Given the description of an element on the screen output the (x, y) to click on. 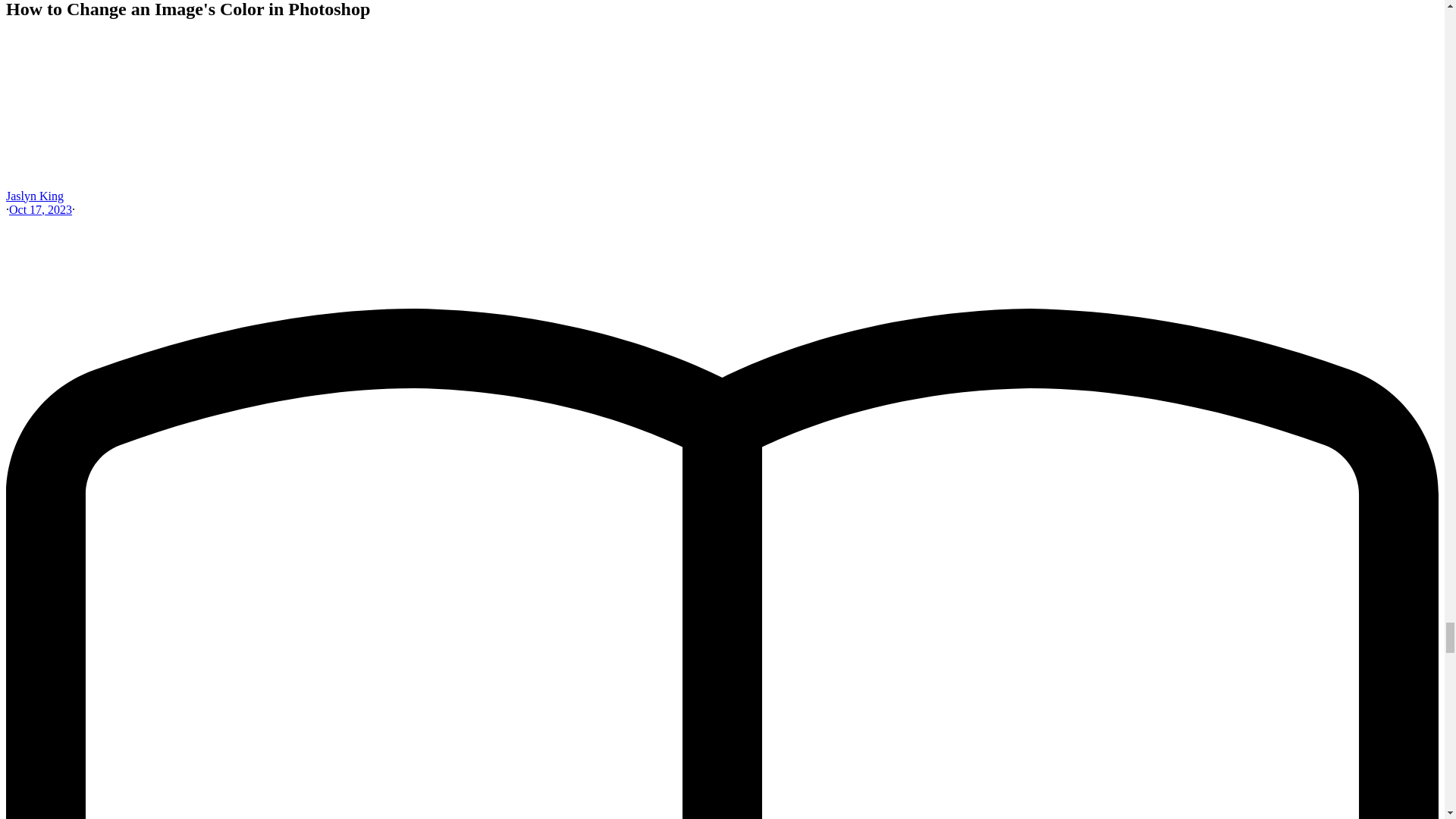
Oct 17, 2023 (39, 209)
Jaslyn King (34, 195)
